Given the description of an element on the screen output the (x, y) to click on. 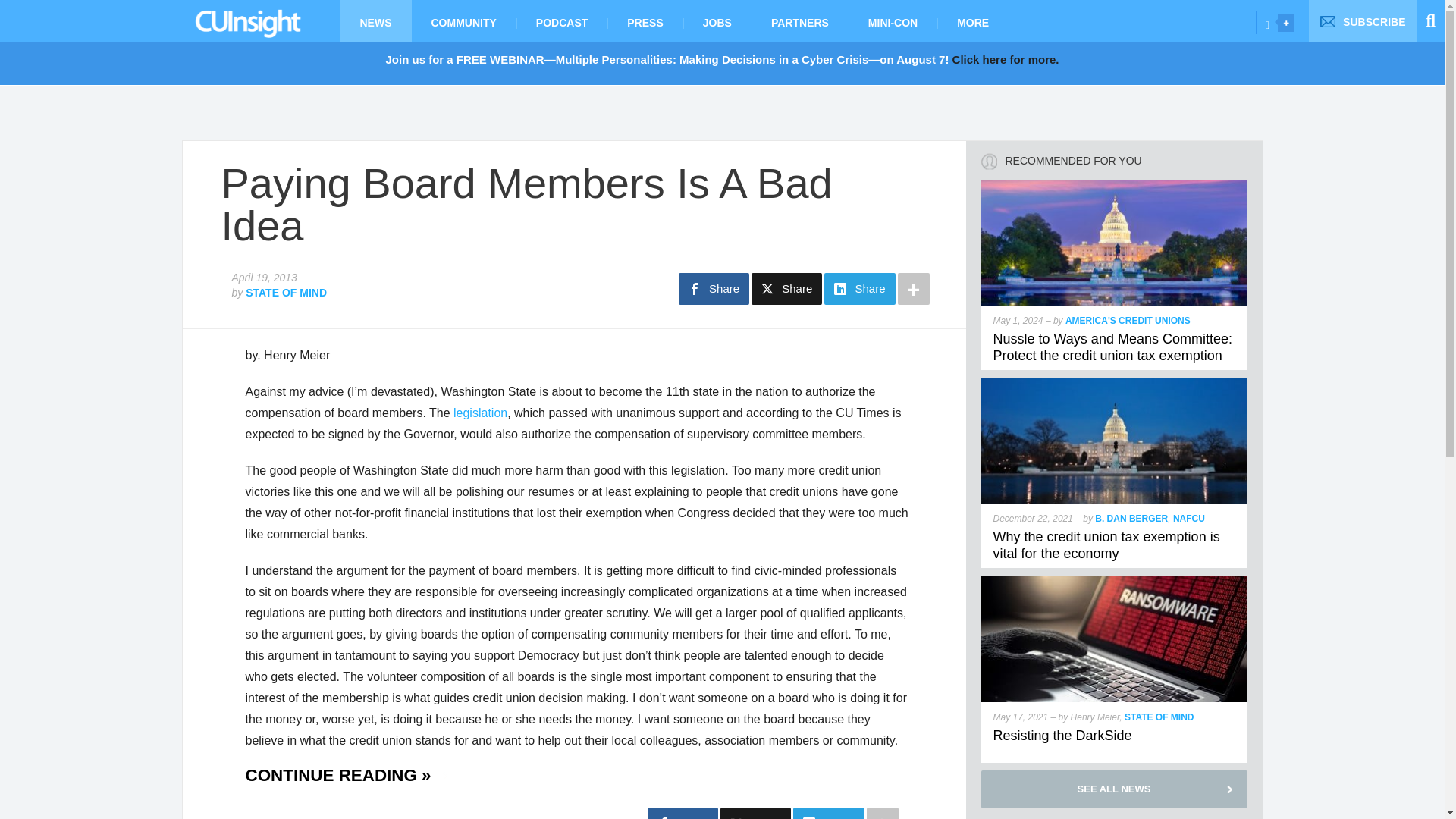
Resisting the DarkSide (1114, 581)
Why the credit union tax exemption is vital for the economy (1114, 383)
COMMUNITY (462, 21)
Opener (1286, 22)
STATE OF MIND (286, 292)
Share (786, 288)
MORE (973, 21)
PARTNERS (799, 21)
MINI-CON (892, 21)
SUBSCRIBE (1362, 21)
JOBS (716, 21)
Resisting the DarkSide (1062, 735)
Share (713, 288)
